Given the description of an element on the screen output the (x, y) to click on. 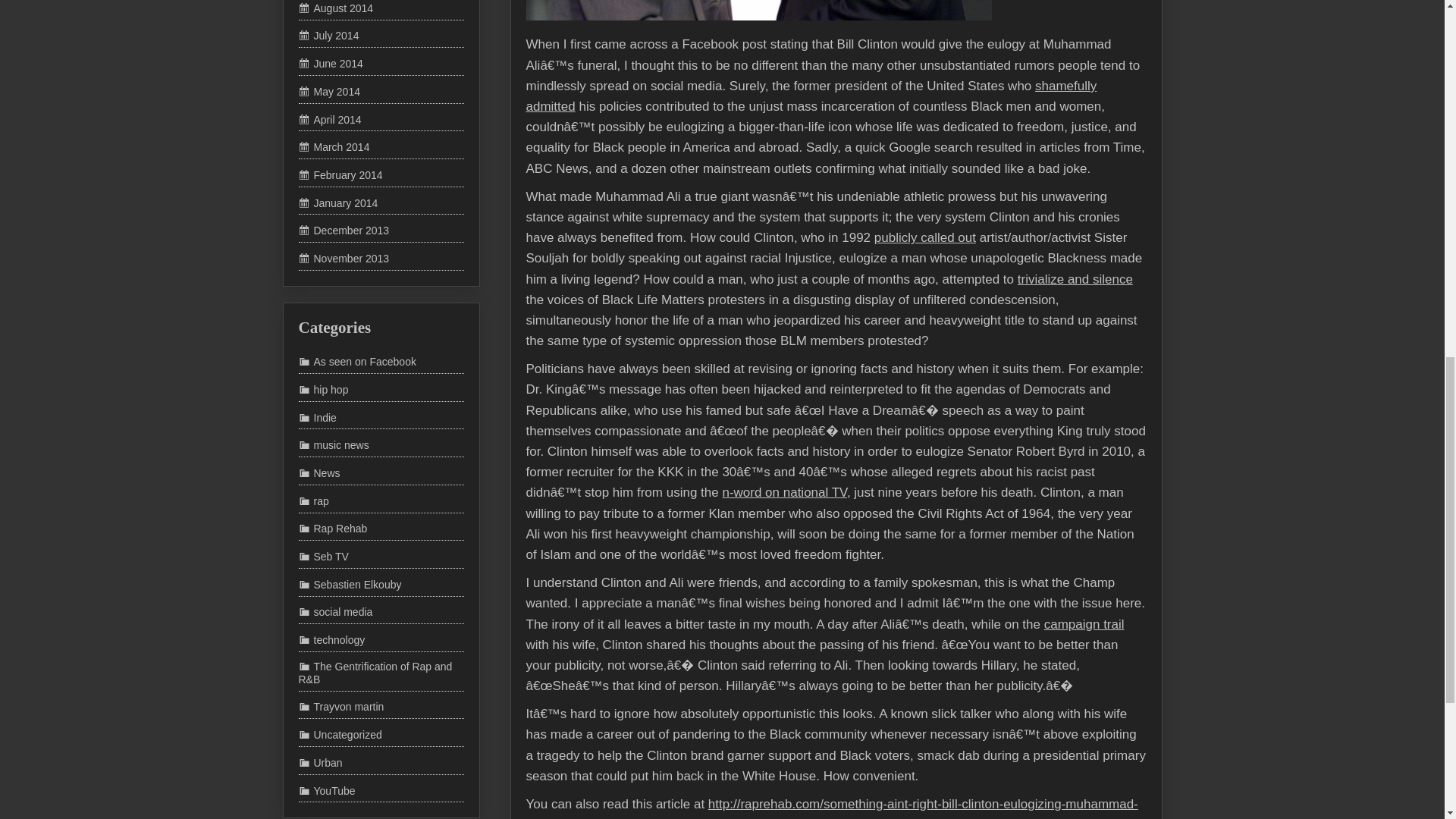
publicly called out (920, 235)
August 2014 (336, 8)
n-word on national TV (793, 472)
trivialize and silence (1057, 273)
shamefully admitted (861, 116)
June 2014 (330, 63)
July 2014 (328, 35)
campaign trail (1072, 602)
